Given the description of an element on the screen output the (x, y) to click on. 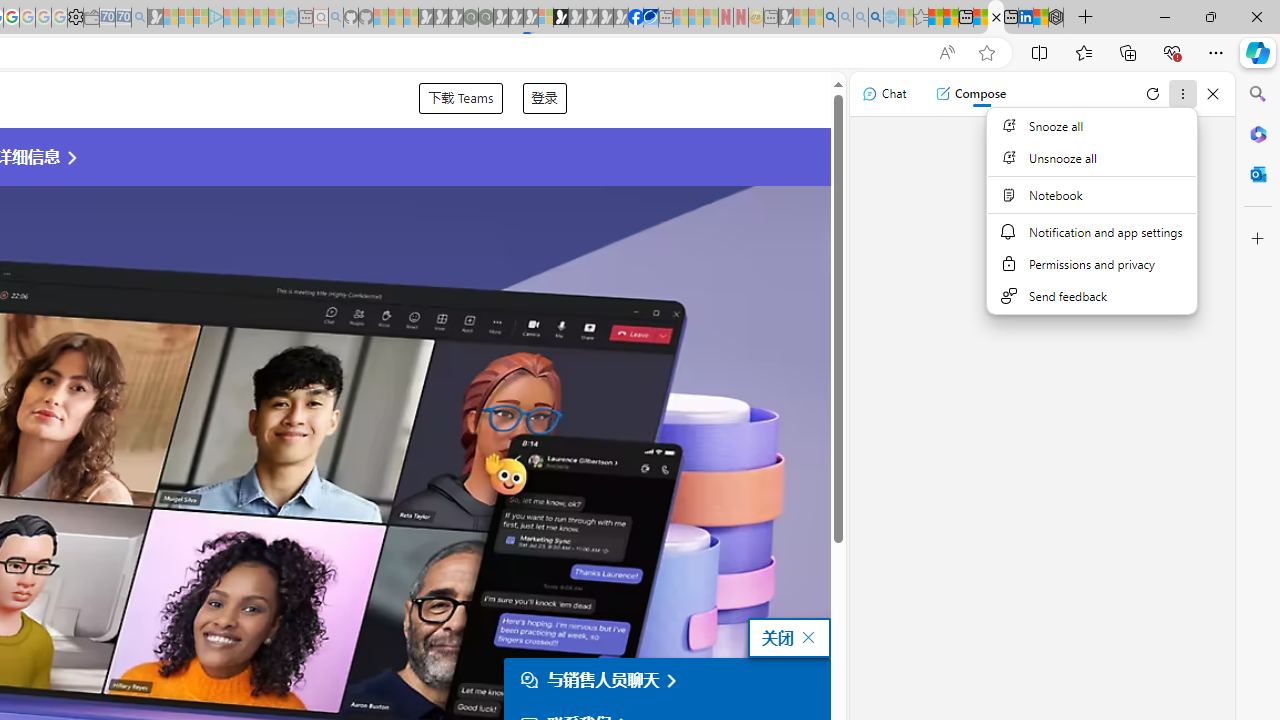
Unsnooze all (1091, 157)
Future Focus Report 2024 - Sleeping (485, 17)
Bing AI - Search (831, 17)
Favorites - Sleeping (920, 17)
Chat (884, 93)
Compose (970, 93)
